Given the description of an element on the screen output the (x, y) to click on. 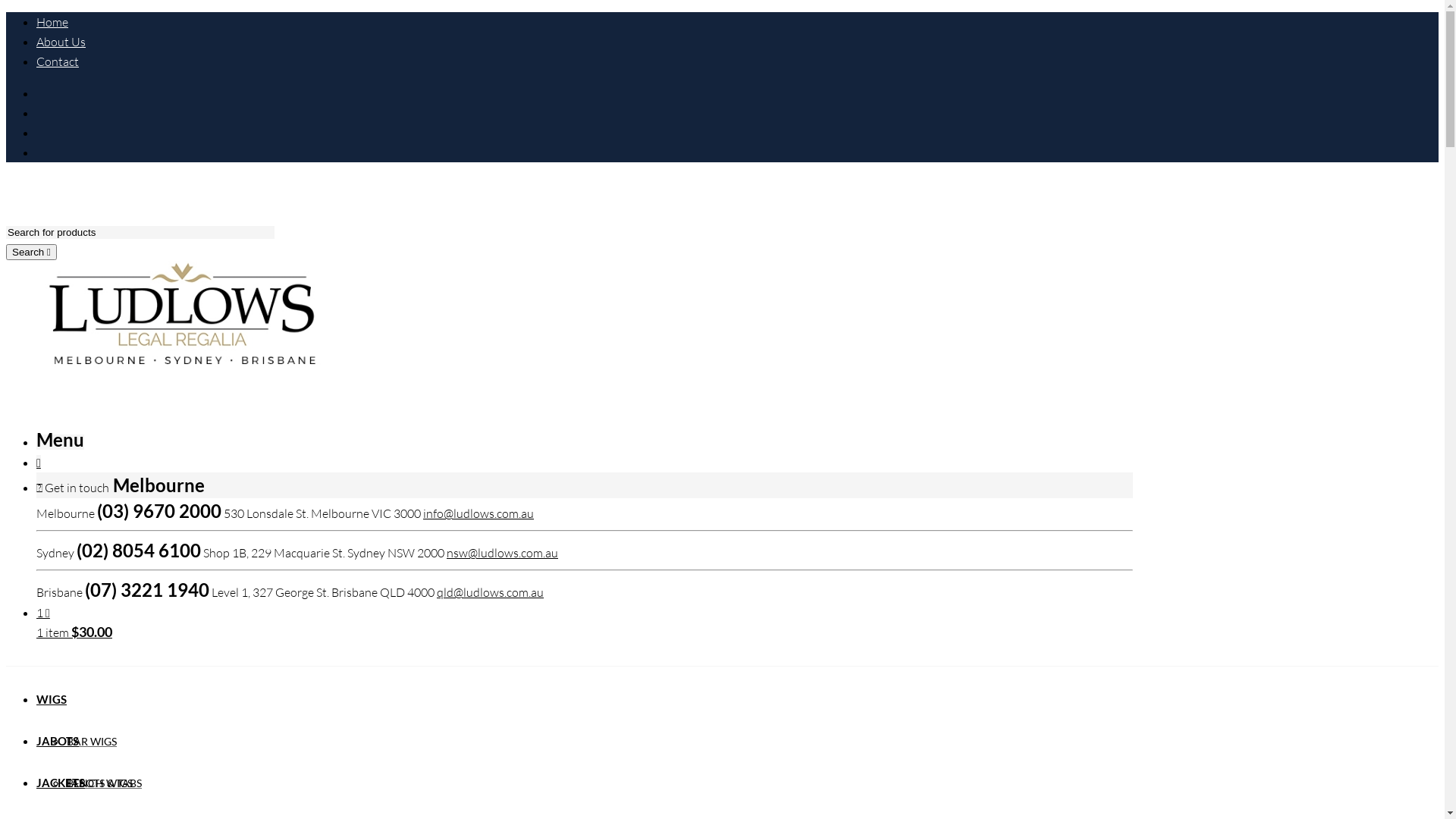
JABOTS & TABS Element type: text (103, 782)
About Us Element type: text (60, 41)
JACKETS Element type: text (60, 782)
Home Element type: text (52, 21)
1
1 item $30.00 Element type: text (584, 622)
WIGS Element type: text (51, 699)
nsw@ludlows.com.au Element type: text (502, 552)
BENCH WIGS Element type: text (99, 782)
BAR WIGS Element type: text (91, 741)
Search Element type: text (31, 252)
qld@ludlows.com.au Element type: text (489, 591)
JABOTS Element type: text (57, 740)
Contact Element type: text (57, 61)
Menu Element type: text (60, 441)
info@ludlows.com.au Element type: text (478, 512)
